Given the description of an element on the screen output the (x, y) to click on. 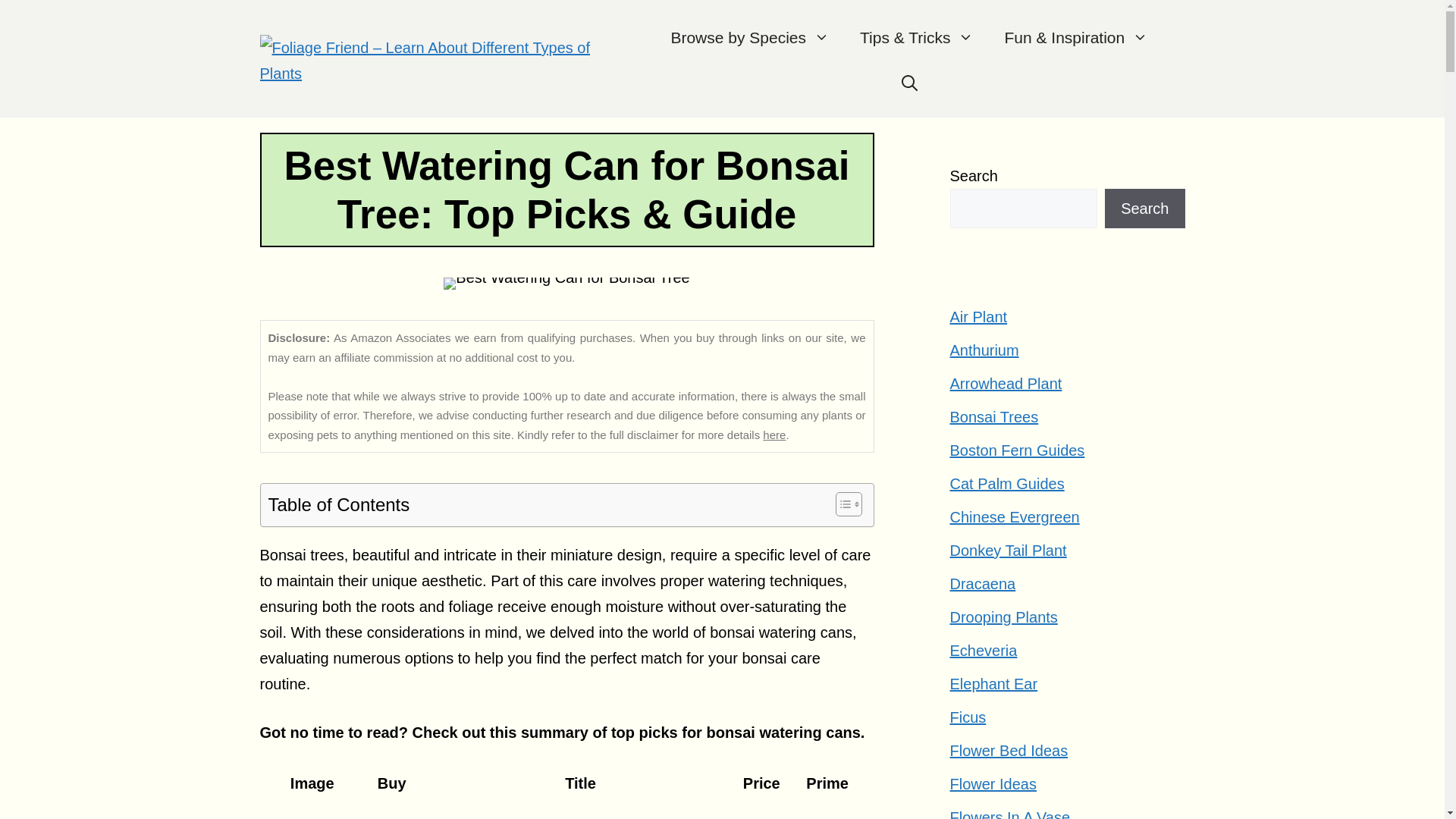
Browse by Species (749, 37)
